Given the description of an element on the screen output the (x, y) to click on. 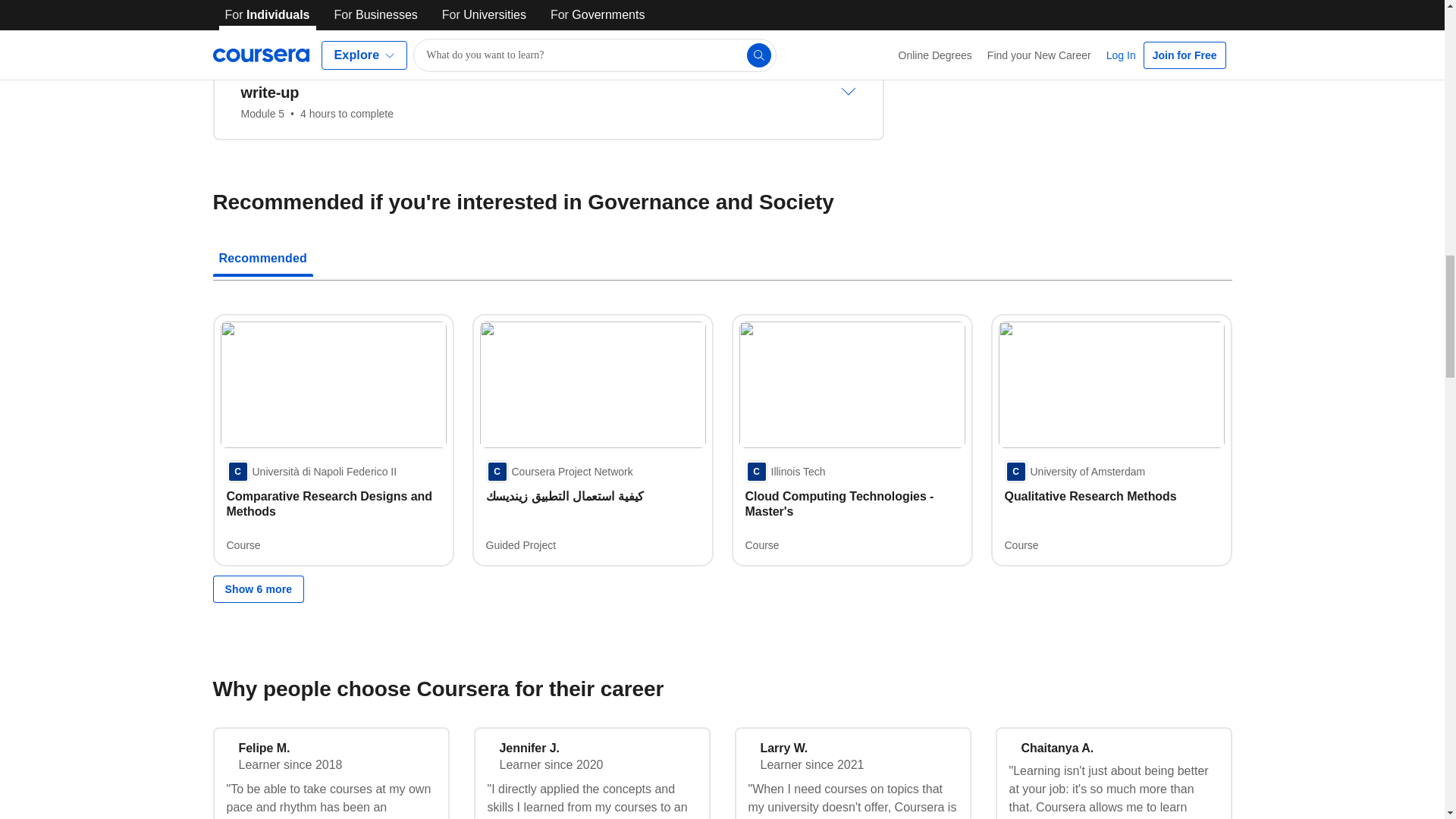
Coursera Project Network (557, 471)
Illinois Tech (784, 471)
Recommended (721, 260)
University of Amsterdam (1074, 471)
